Given the description of an element on the screen output the (x, y) to click on. 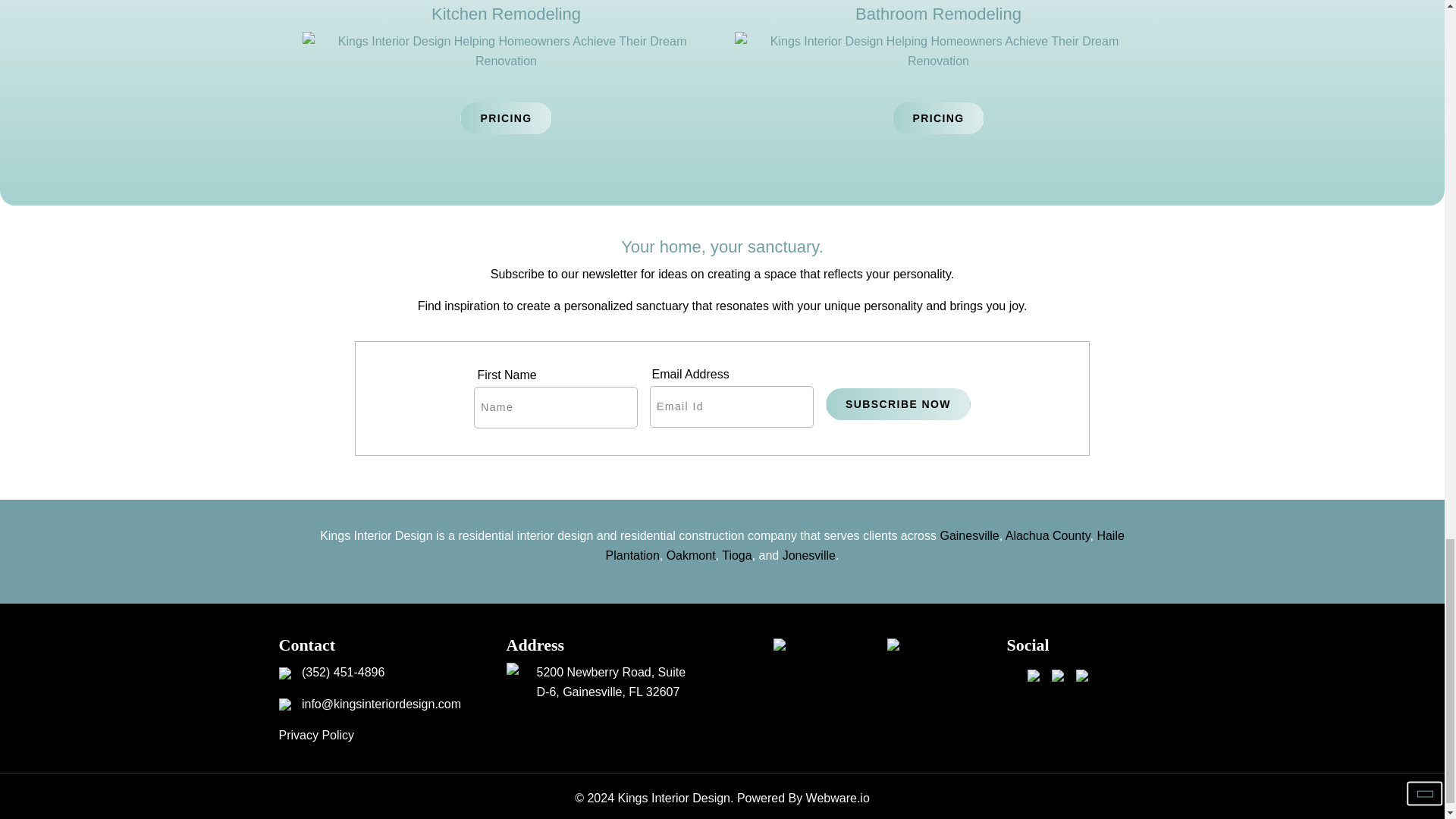
Oakmont (691, 554)
Haile Plantation (864, 545)
Subscribe now (898, 404)
Alachua County (1048, 535)
Subscribe now (898, 404)
PRICING (938, 118)
Jonesville (809, 554)
Tioga (736, 554)
PRICING (505, 118)
Gainesville (968, 535)
Privacy Policy (317, 735)
